Given the description of an element on the screen output the (x, y) to click on. 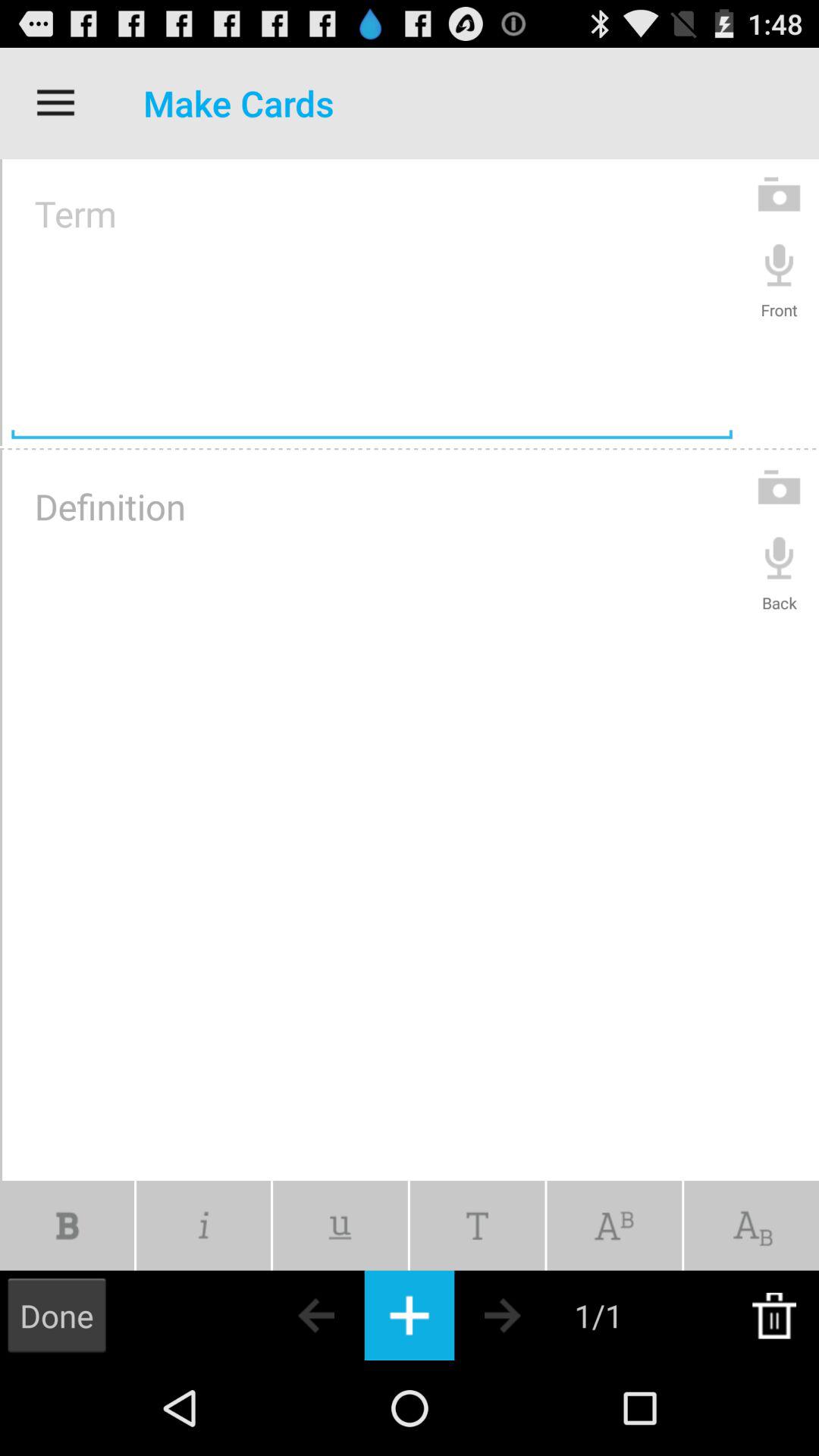
ab (614, 1225)
